Given the description of an element on the screen output the (x, y) to click on. 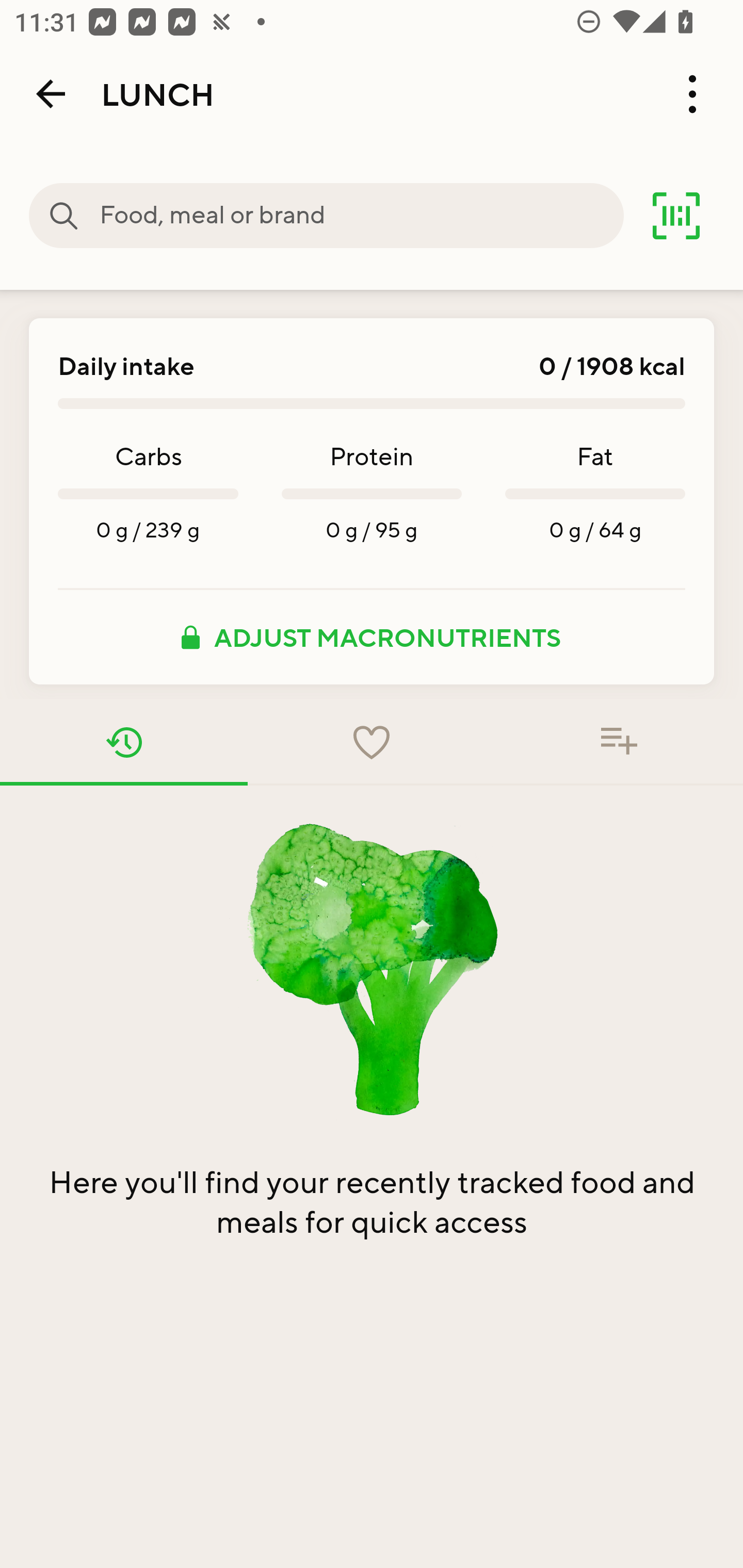
Back (50, 93)
Food, meal or brand (63, 215)
Food, meal or brand (361, 215)
ADJUST MACRONUTRIENTS (371, 637)
Favorites (371, 742)
Food added (619, 742)
